Given the description of an element on the screen output the (x, y) to click on. 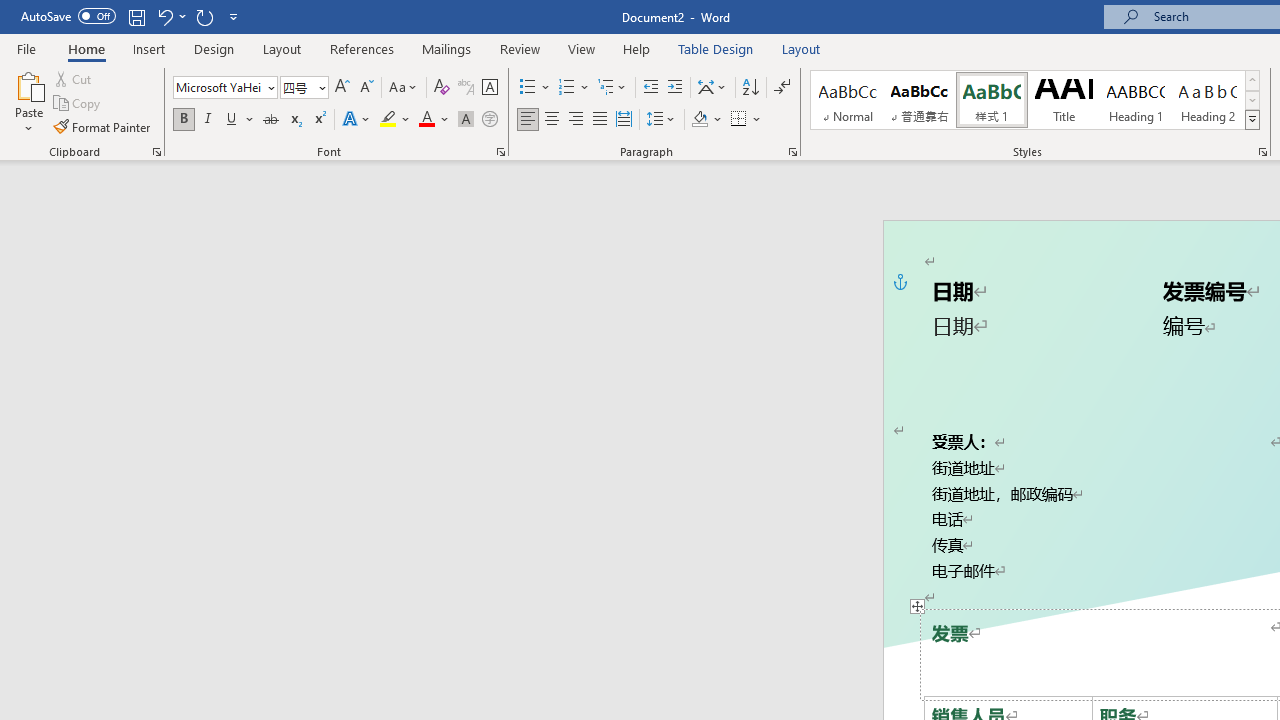
Repeat Style (204, 15)
